Given the description of an element on the screen output the (x, y) to click on. 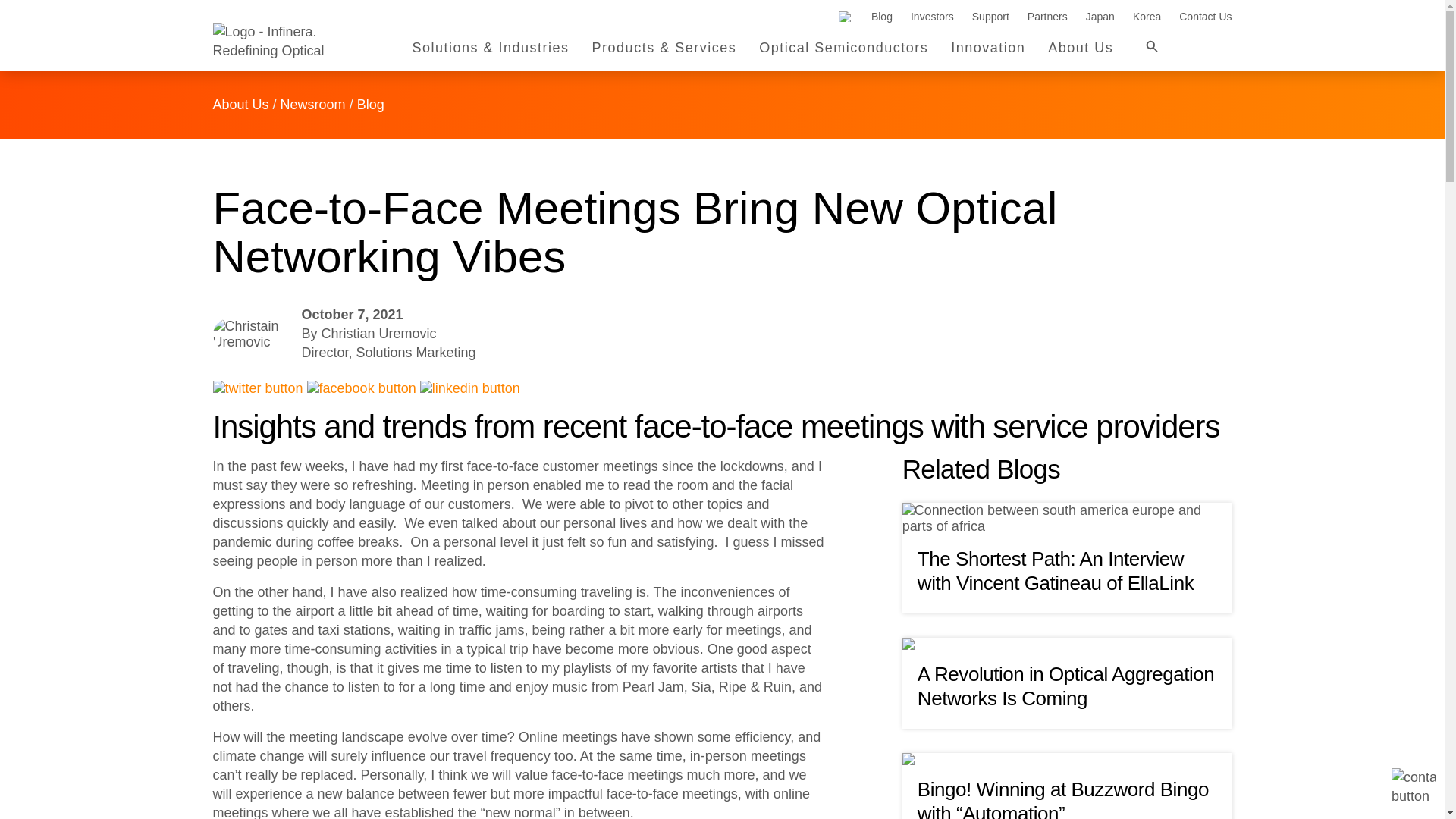
Innovation (987, 52)
Korea (1146, 16)
Support (990, 16)
About Us (1080, 52)
Partners (1047, 16)
Contact Us (1205, 16)
Optical Semiconductors (843, 52)
Investors (932, 16)
Blog (881, 16)
Japan (1100, 16)
